Given the description of an element on the screen output the (x, y) to click on. 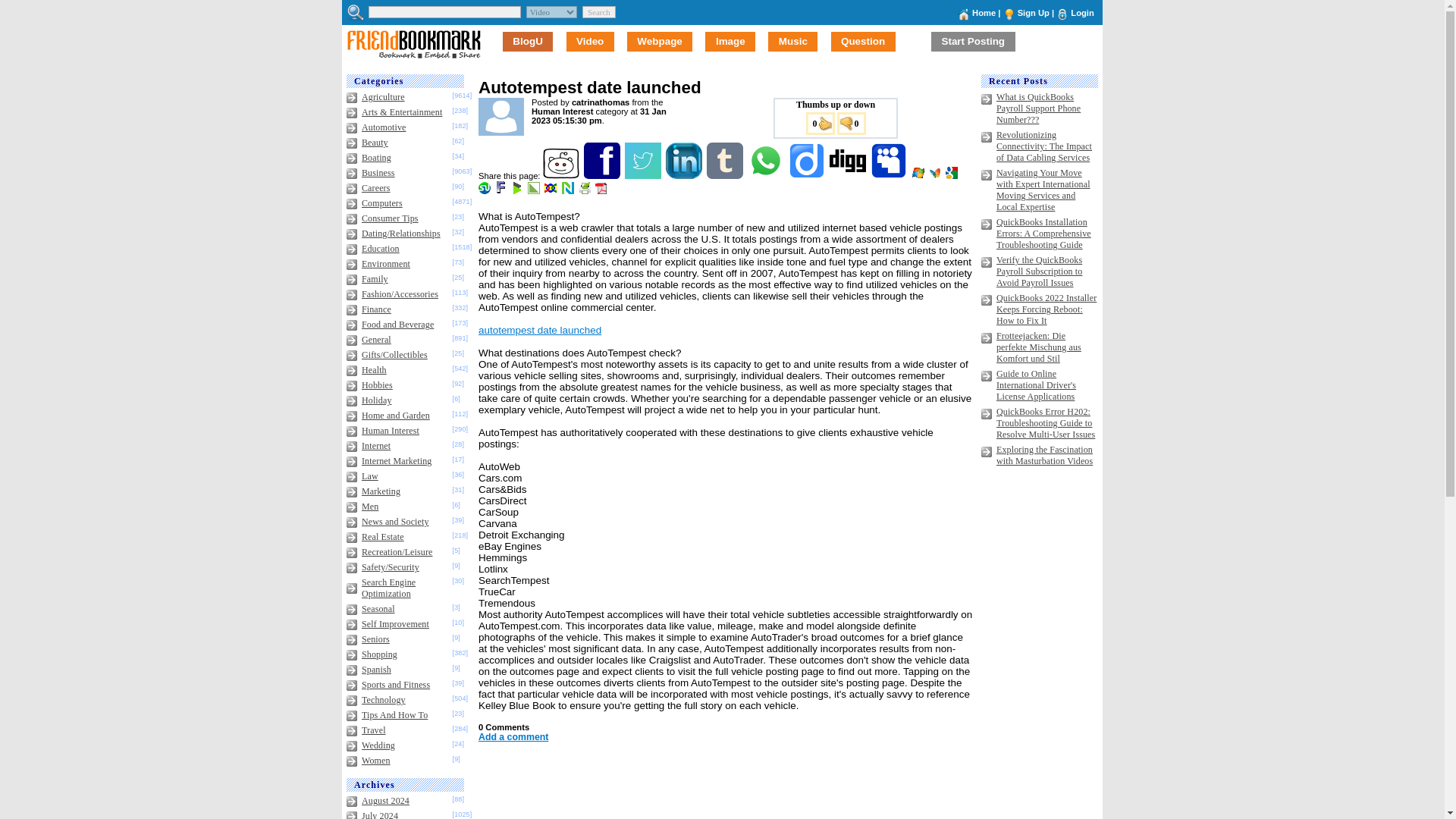
StumbleUpon (486, 190)
blogmarks (518, 190)
Search (598, 11)
digg (848, 175)
Reddit (561, 175)
Login (1081, 12)
LinkArena (534, 190)
Search (598, 11)
Twitter (643, 175)
Tumblr (725, 175)
